Given the description of an element on the screen output the (x, y) to click on. 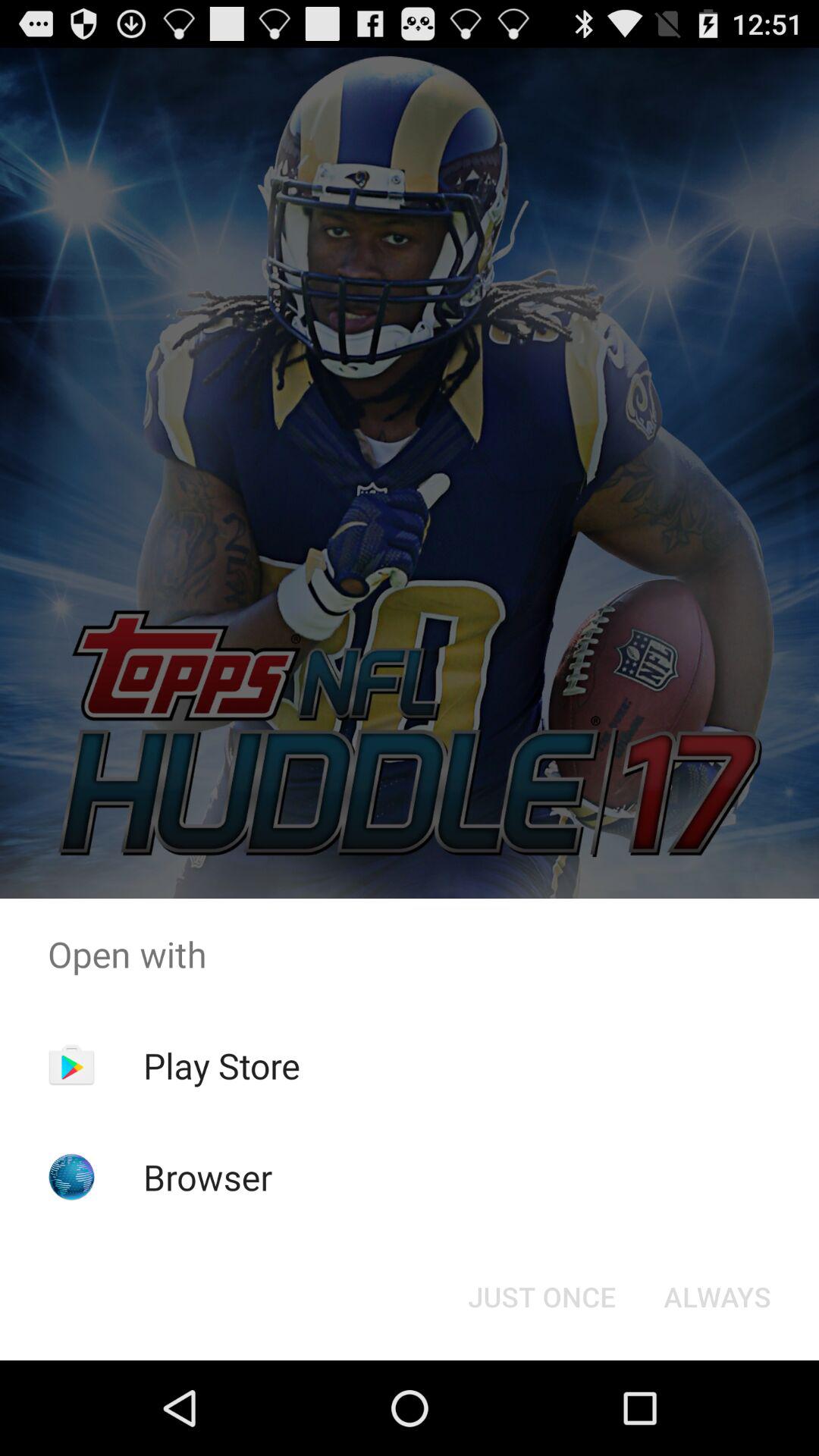
turn on just once at the bottom (541, 1296)
